Given the description of an element on the screen output the (x, y) to click on. 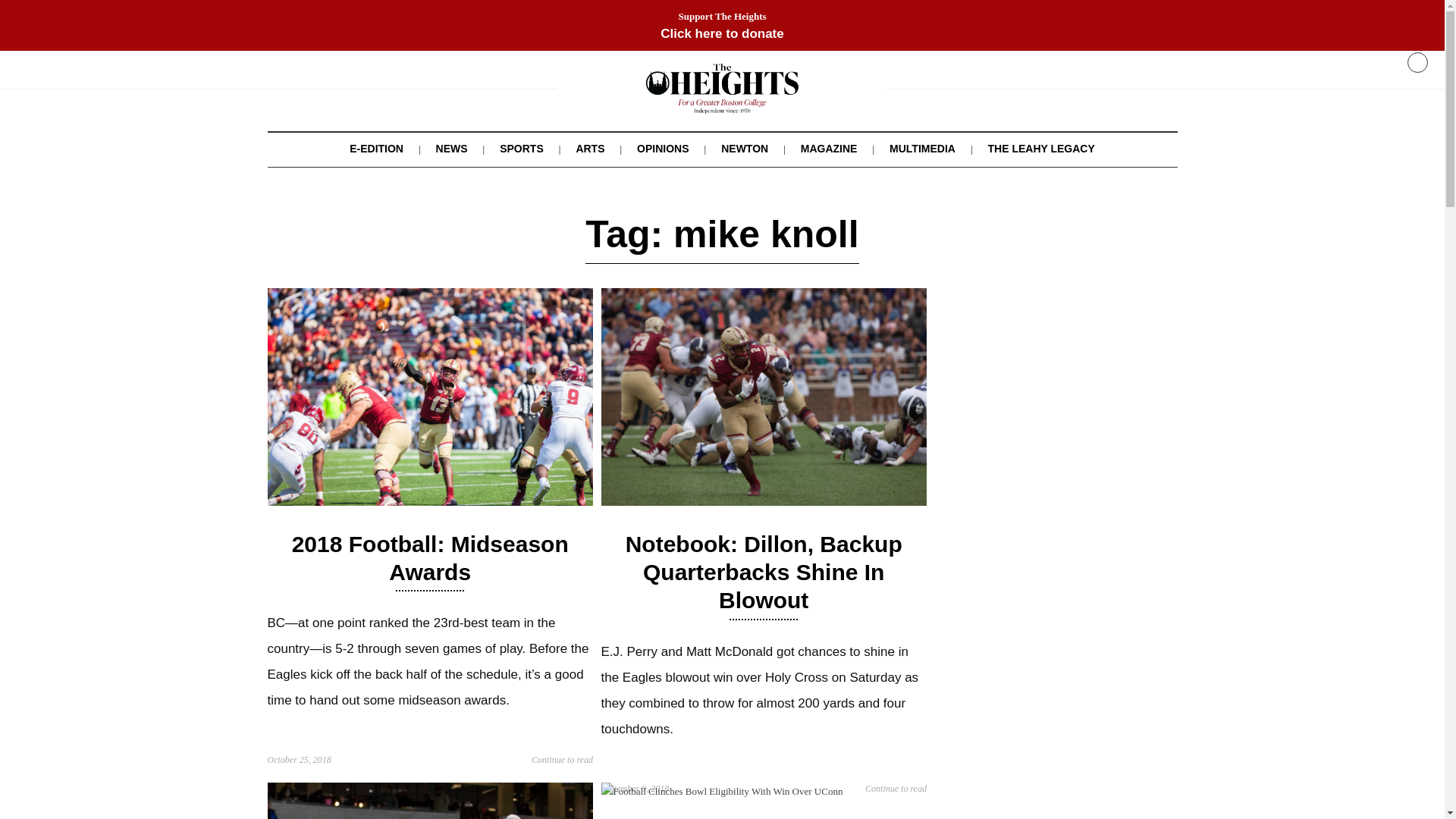
NEWTON (744, 148)
2018 Football: Midseason Awards (430, 557)
2018 Football: Midseason Awards (429, 501)
SPORTS (521, 148)
Click here to donate (722, 33)
Notebook: Dillon, Backup Quarterbacks Shine in Blowout (762, 501)
Notebook: Dillon, Backup Quarterbacks Shine in Blowout (764, 571)
The Heights (721, 103)
Continue to read (895, 788)
OPINIONS (662, 148)
